Given the description of an element on the screen output the (x, y) to click on. 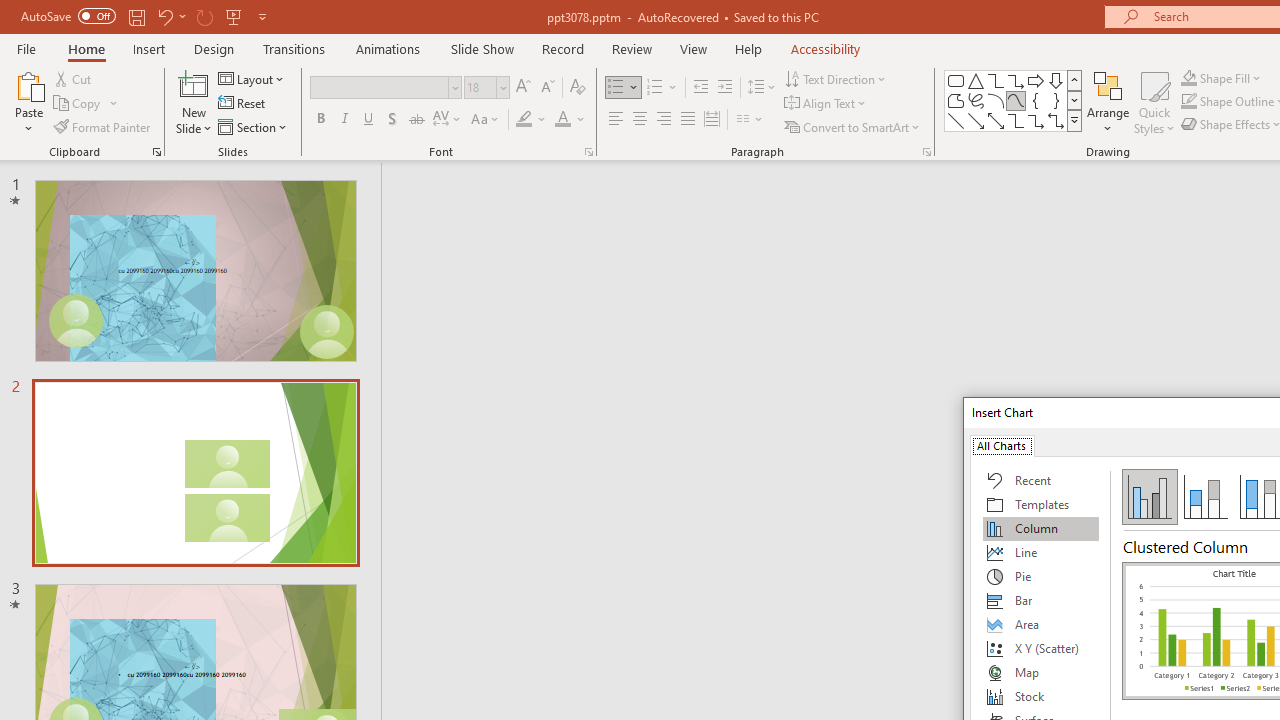
Area (1041, 624)
Stock (1041, 696)
